Given the description of an element on the screen output the (x, y) to click on. 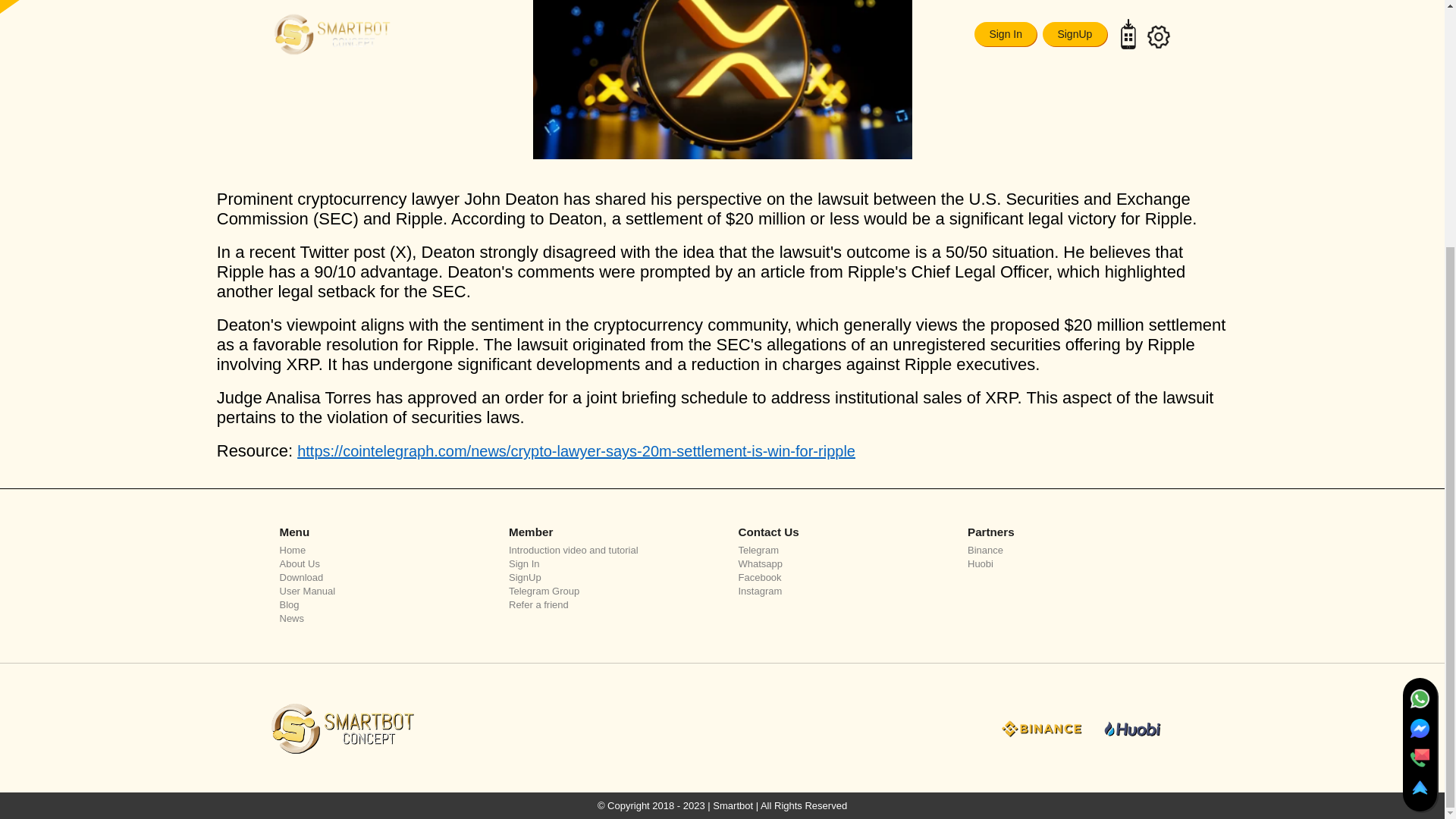
Telegram Group (607, 591)
User Manual (378, 591)
Introduction video and tutorial (607, 550)
Telegram (837, 550)
Facebook (837, 577)
Instagram (837, 591)
Refer a friend (607, 604)
Home (378, 550)
Blog (378, 604)
News (378, 618)
Download (378, 577)
SignUp (607, 577)
About Us (378, 563)
Whatsapp (837, 563)
Sign In (607, 563)
